Given the description of an element on the screen output the (x, y) to click on. 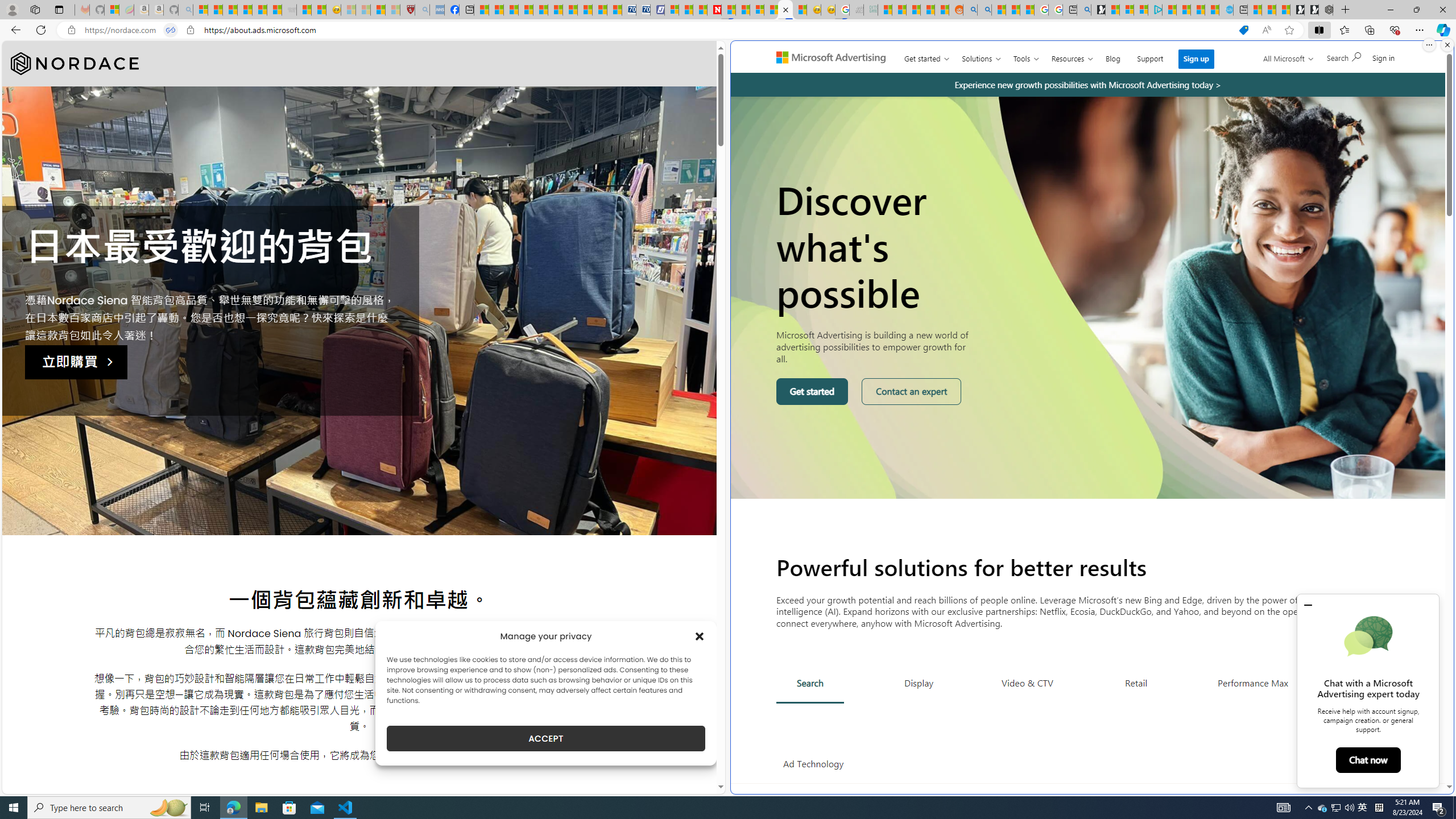
Blog (1112, 56)
Search (1343, 56)
A smiling woman looking into the horizon. (1087, 297)
Tab actions menu (58, 9)
Close tab (785, 9)
Microsoft Start (1197, 9)
Tabs in split screen (170, 29)
Home | Sky Blue Bikes - Sky Blue Bikes (1225, 9)
